Given the description of an element on the screen output the (x, y) to click on. 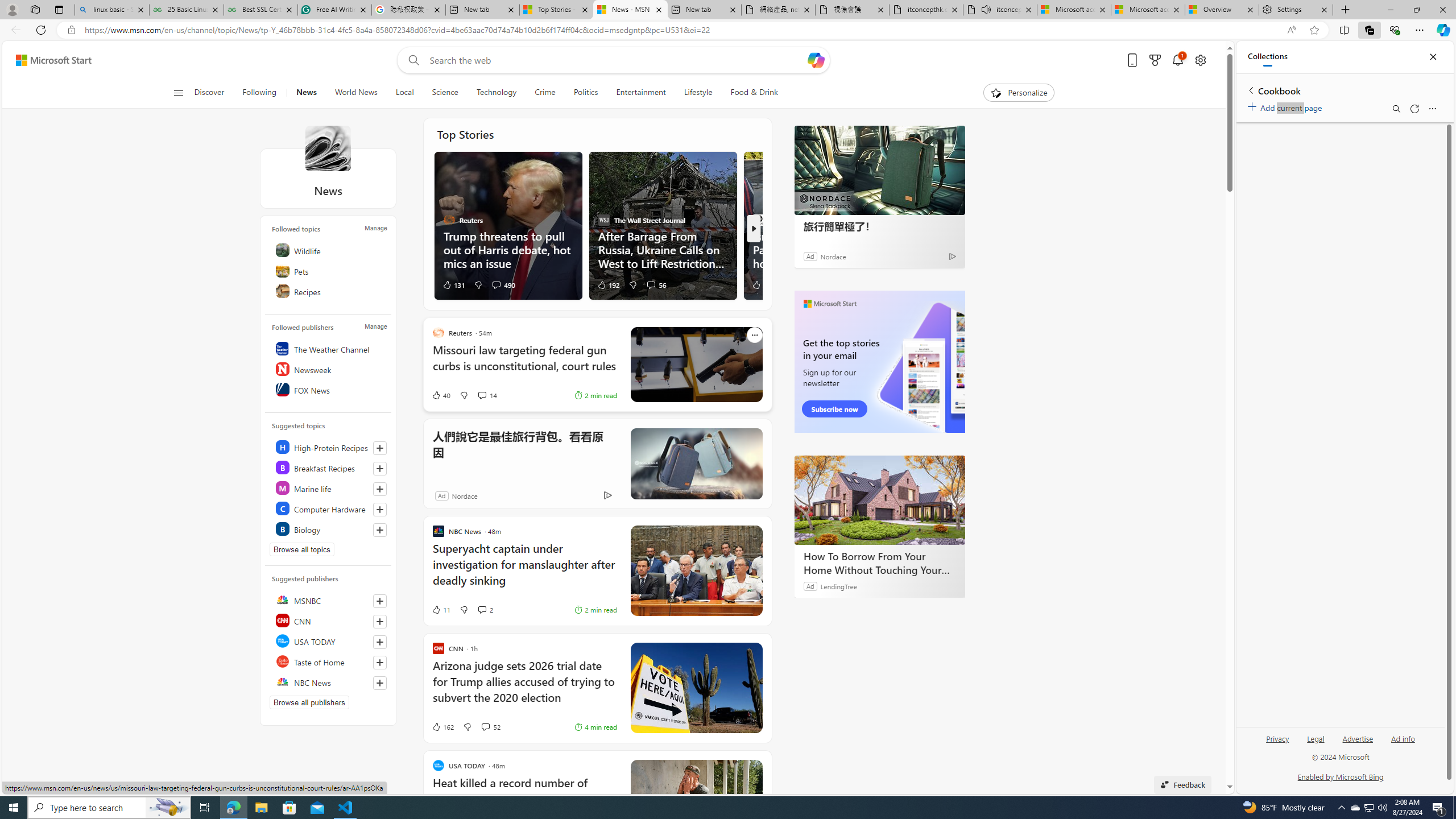
View comments 56 Comment (656, 284)
192 Like (608, 284)
162 Like (442, 726)
